Given the description of an element on the screen output the (x, y) to click on. 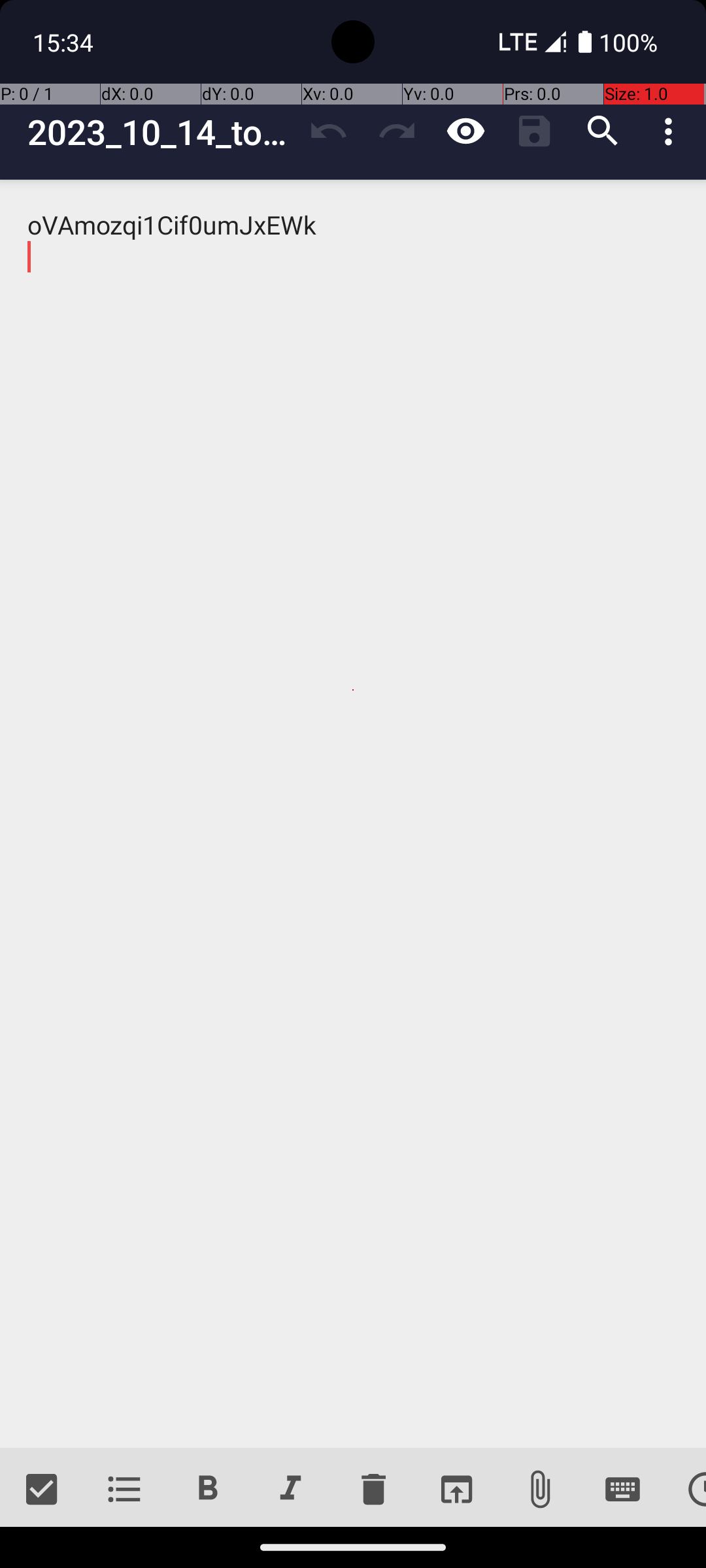
2023_10_14_tough_mouse_2023_04_01 Element type: android.widget.TextView (160, 131)
oVAmozqi1Cif0umJxEWk
 Element type: android.widget.EditText (353, 813)
